Given the description of an element on the screen output the (x, y) to click on. 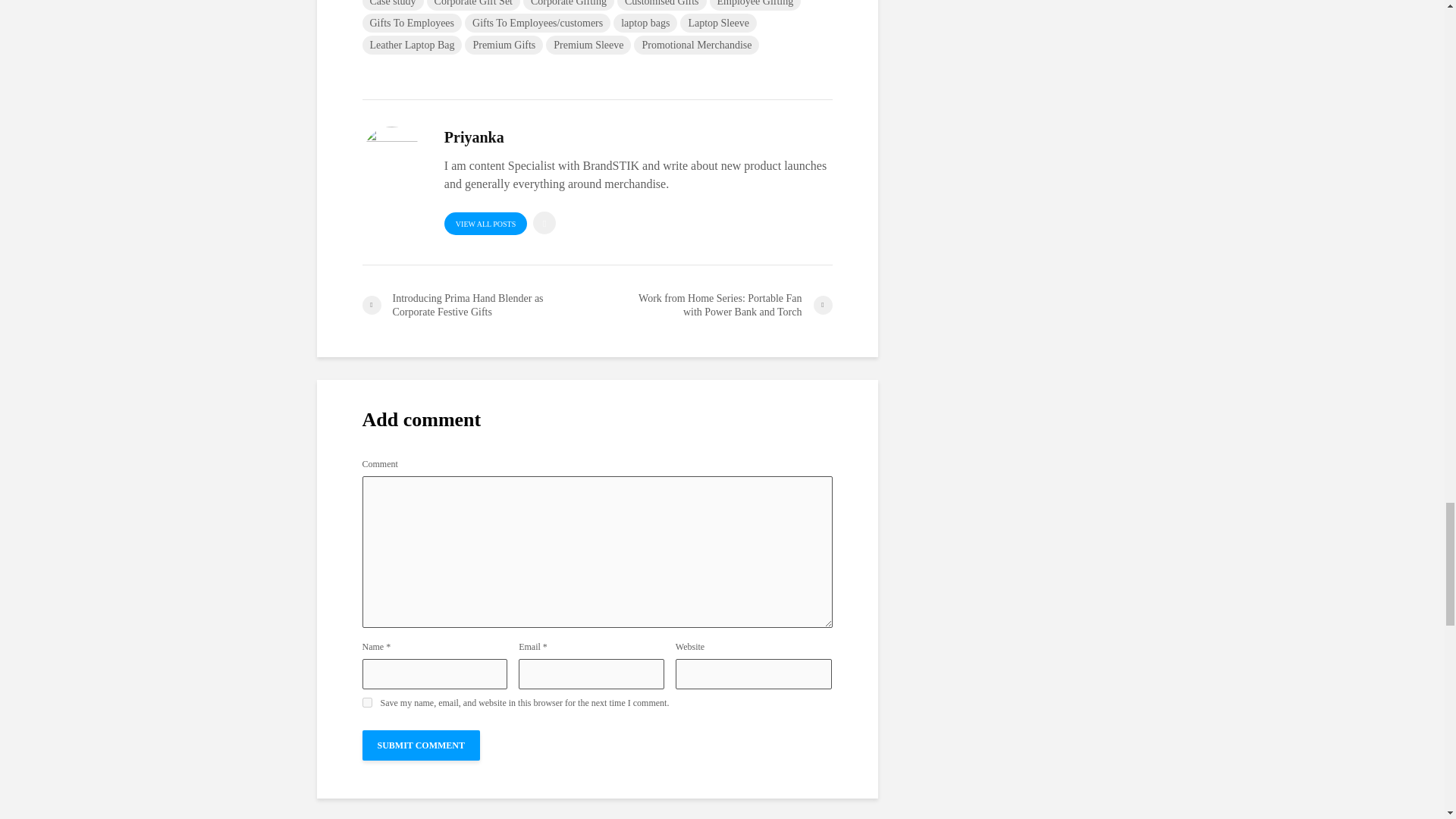
yes (367, 702)
Customised Gifts (661, 5)
Submit Comment (421, 745)
Corporate Gifting (568, 5)
Corporate Gift Set (472, 5)
Case study (392, 5)
